Given the description of an element on the screen output the (x, y) to click on. 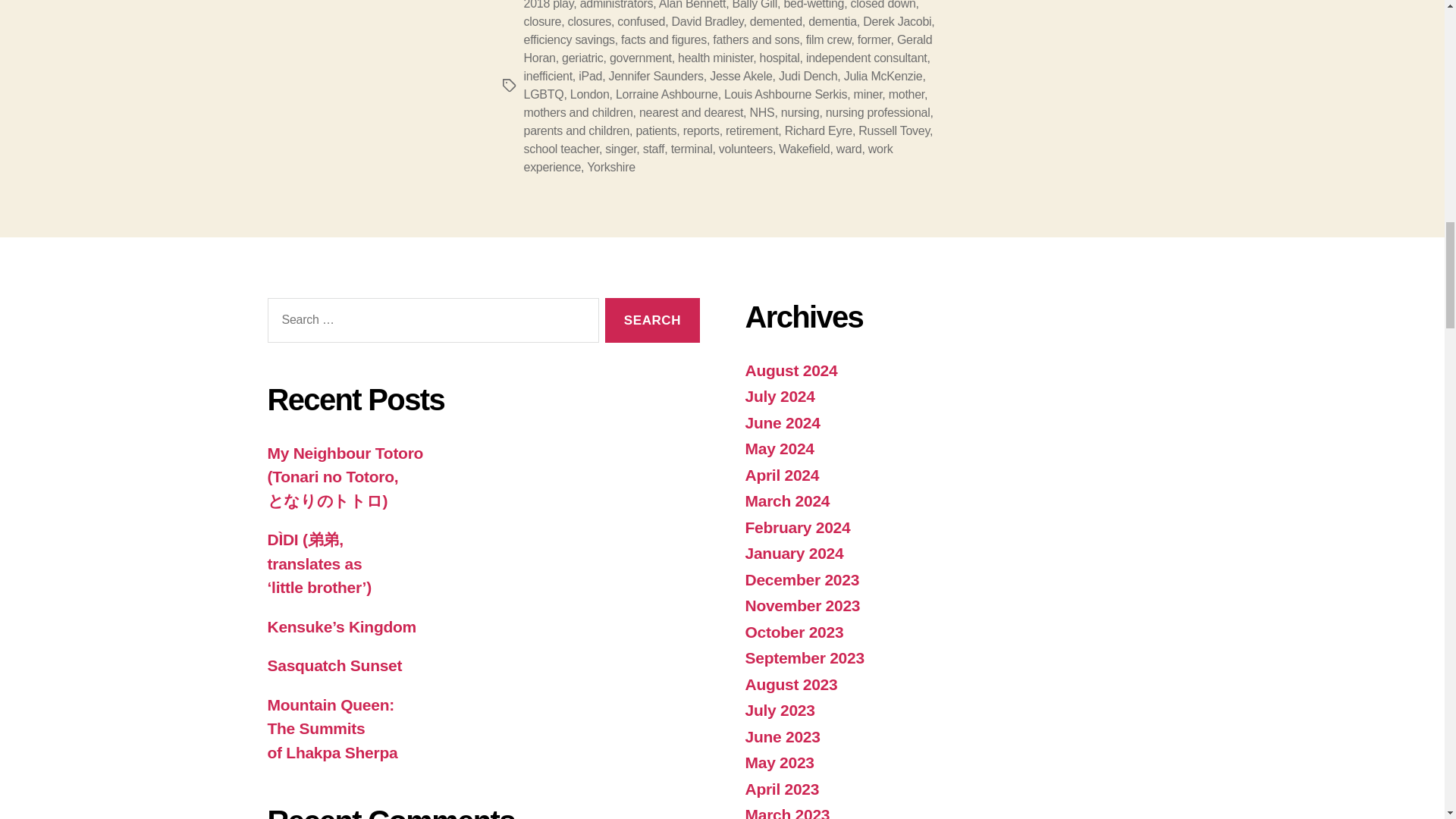
Alan Bennett (692, 4)
administrators (616, 4)
Search (651, 320)
Search (651, 320)
2018 play (547, 4)
